Given the description of an element on the screen output the (x, y) to click on. 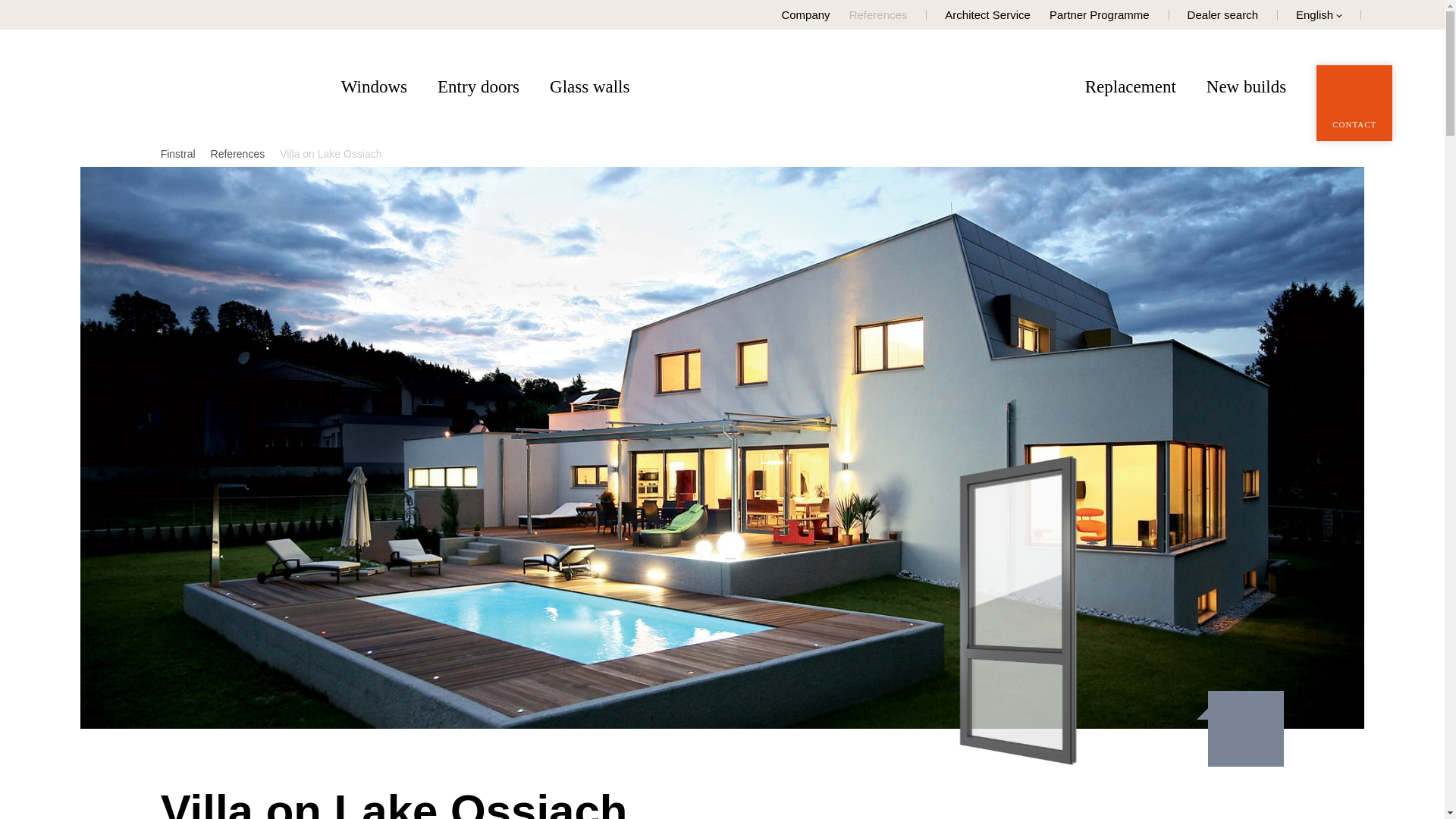
Company (804, 14)
References (237, 153)
Entry doors (478, 86)
Dealer search (1222, 14)
Architect Service (987, 14)
Entry doors (478, 86)
New builds (1246, 86)
Replacement (1130, 86)
Windows (373, 86)
Architect Service (987, 14)
